Given the description of an element on the screen output the (x, y) to click on. 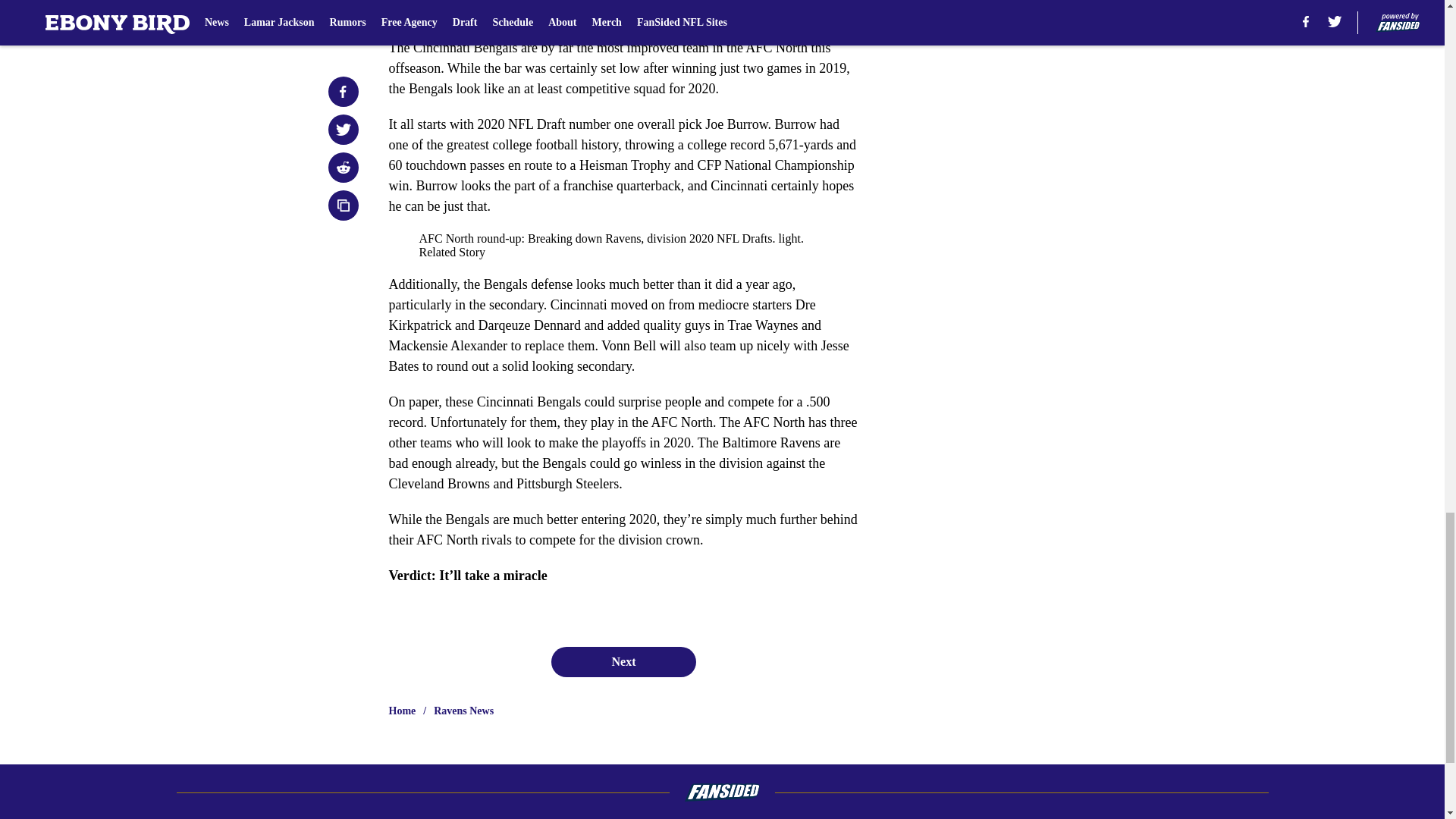
Next (622, 662)
D.J. Reader (650, 11)
Contact (861, 817)
Home (401, 711)
Mackensie Alexander (450, 11)
Openings (676, 817)
About (373, 817)
Masthead (521, 817)
Ravens News (463, 711)
Vonn Bell (559, 11)
